Given the description of an element on the screen output the (x, y) to click on. 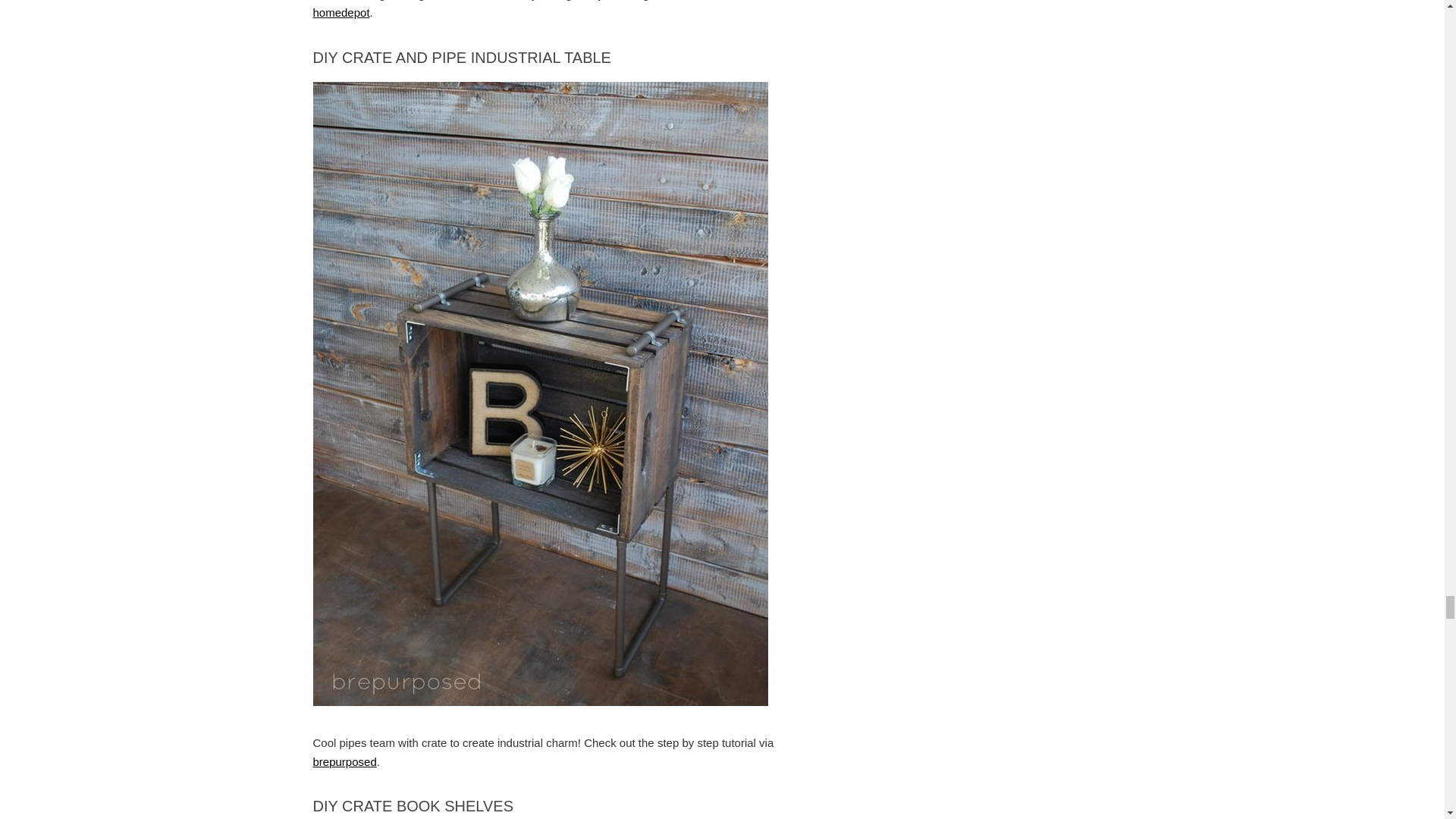
brepurposed (344, 761)
homedepot (341, 11)
